Given the description of an element on the screen output the (x, y) to click on. 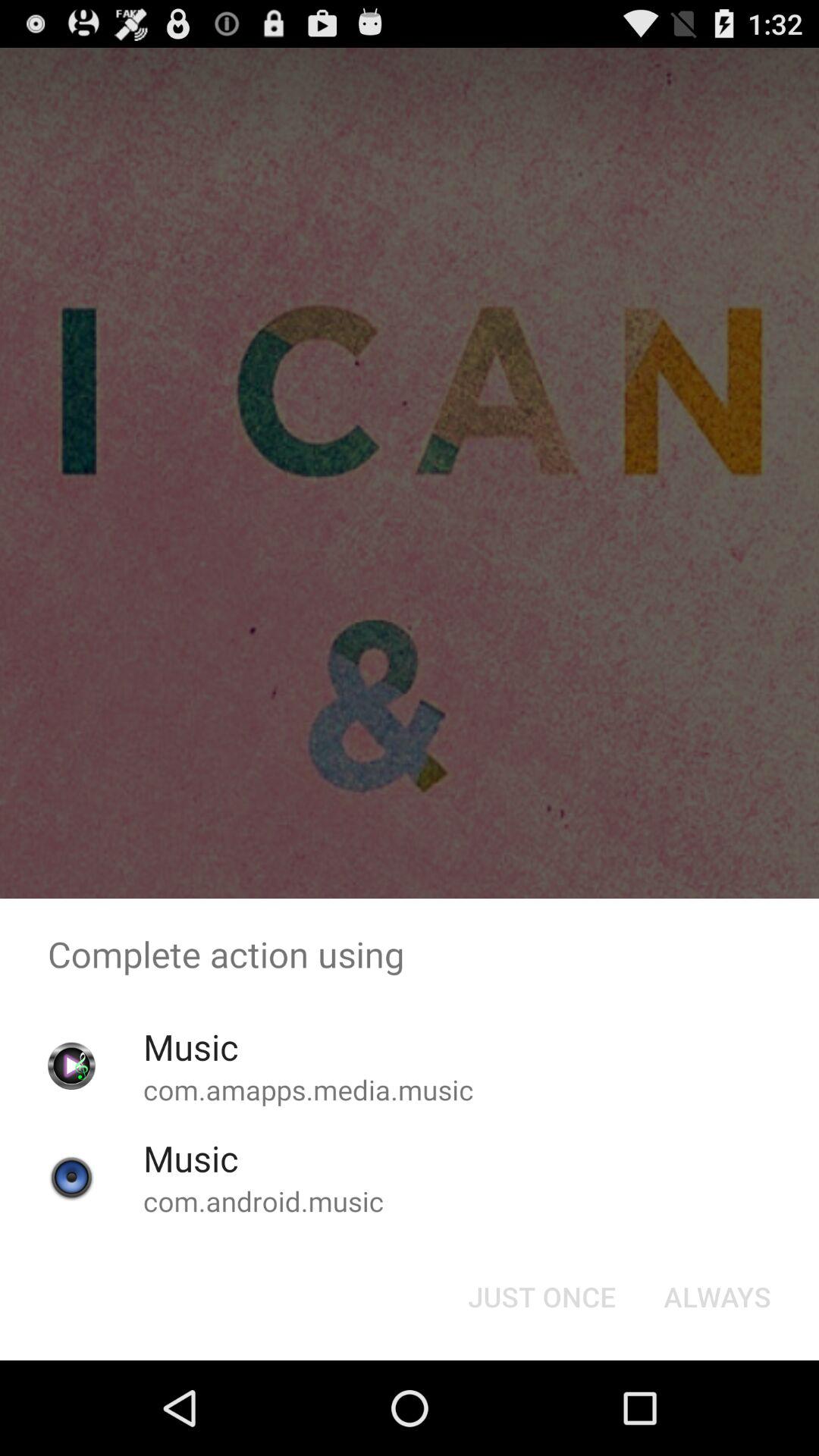
scroll until the always button (717, 1296)
